Given the description of an element on the screen output the (x, y) to click on. 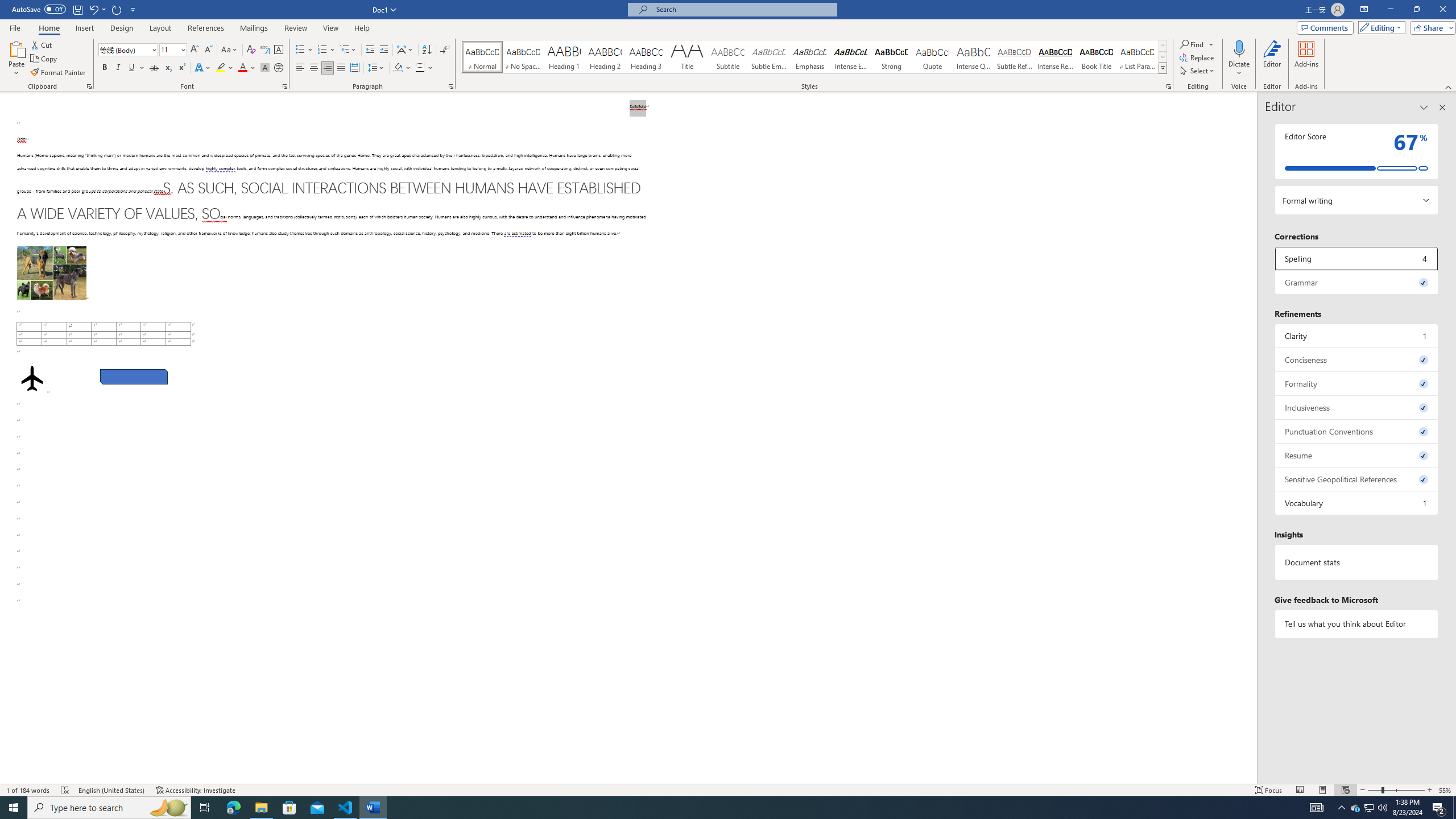
Document statistics (1356, 561)
